Given the description of an element on the screen output the (x, y) to click on. 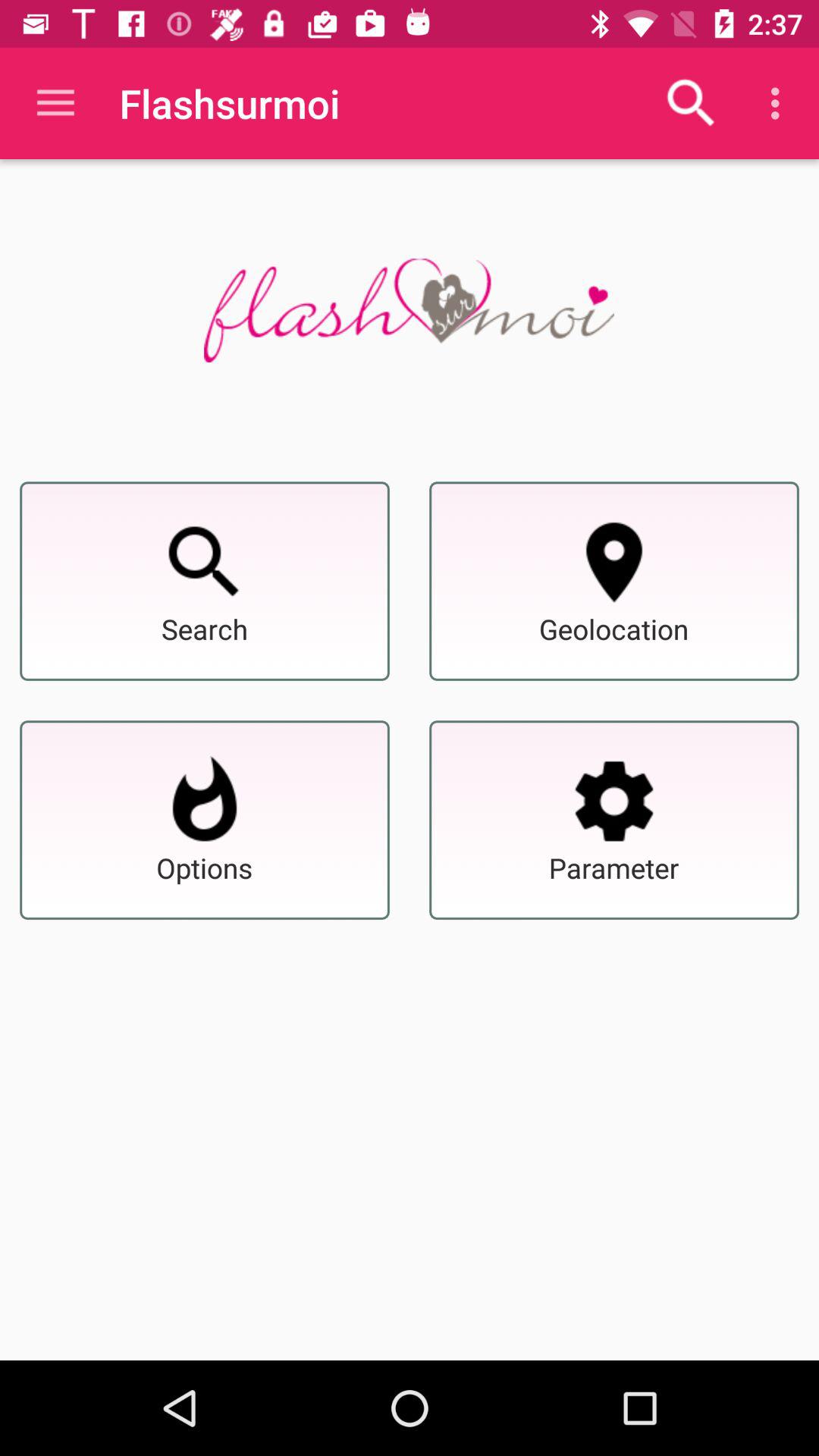
select options (204, 801)
